Given the description of an element on the screen output the (x, y) to click on. 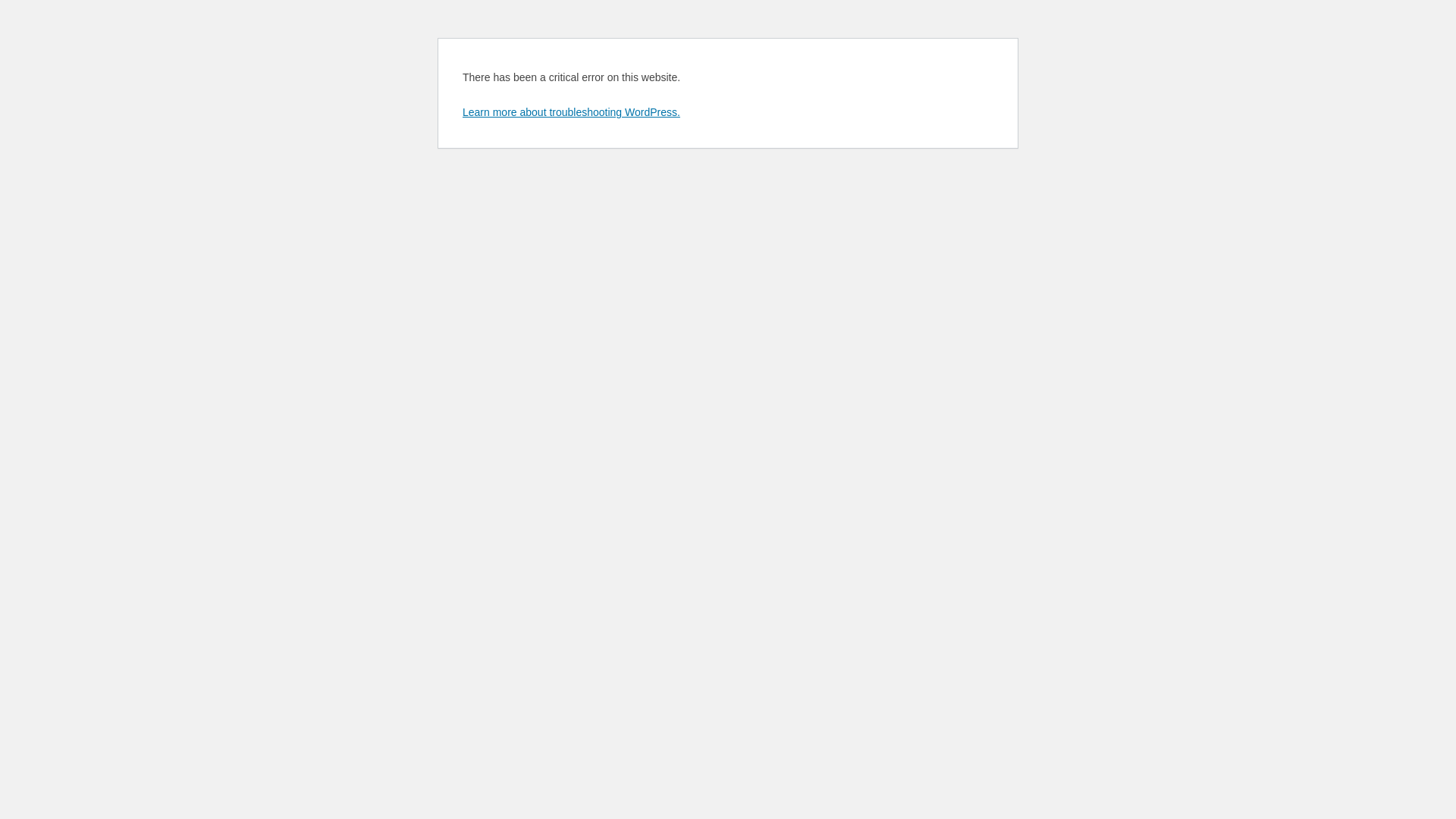
Learn more about troubleshooting WordPress. Element type: text (571, 112)
